Given the description of an element on the screen output the (x, y) to click on. 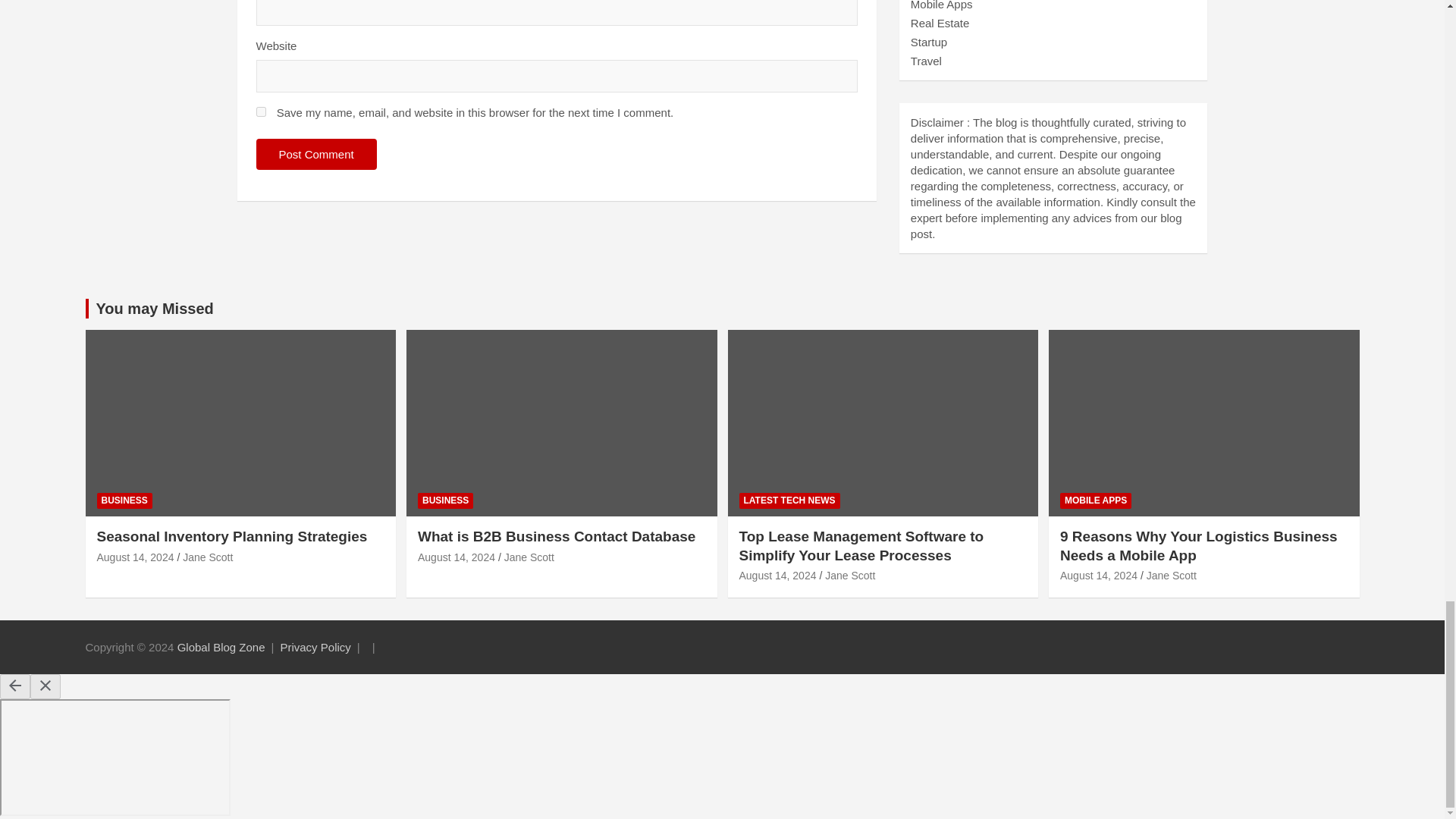
Post Comment (316, 153)
yes (261, 112)
Post Comment (316, 153)
Seasonal Inventory Planning Strategies (135, 557)
What is B2B Business Contact Database (456, 557)
9 Reasons Why Your Logistics Business Needs a Mobile App (1098, 575)
Global Blog Zone (220, 646)
